Given the description of an element on the screen output the (x, y) to click on. 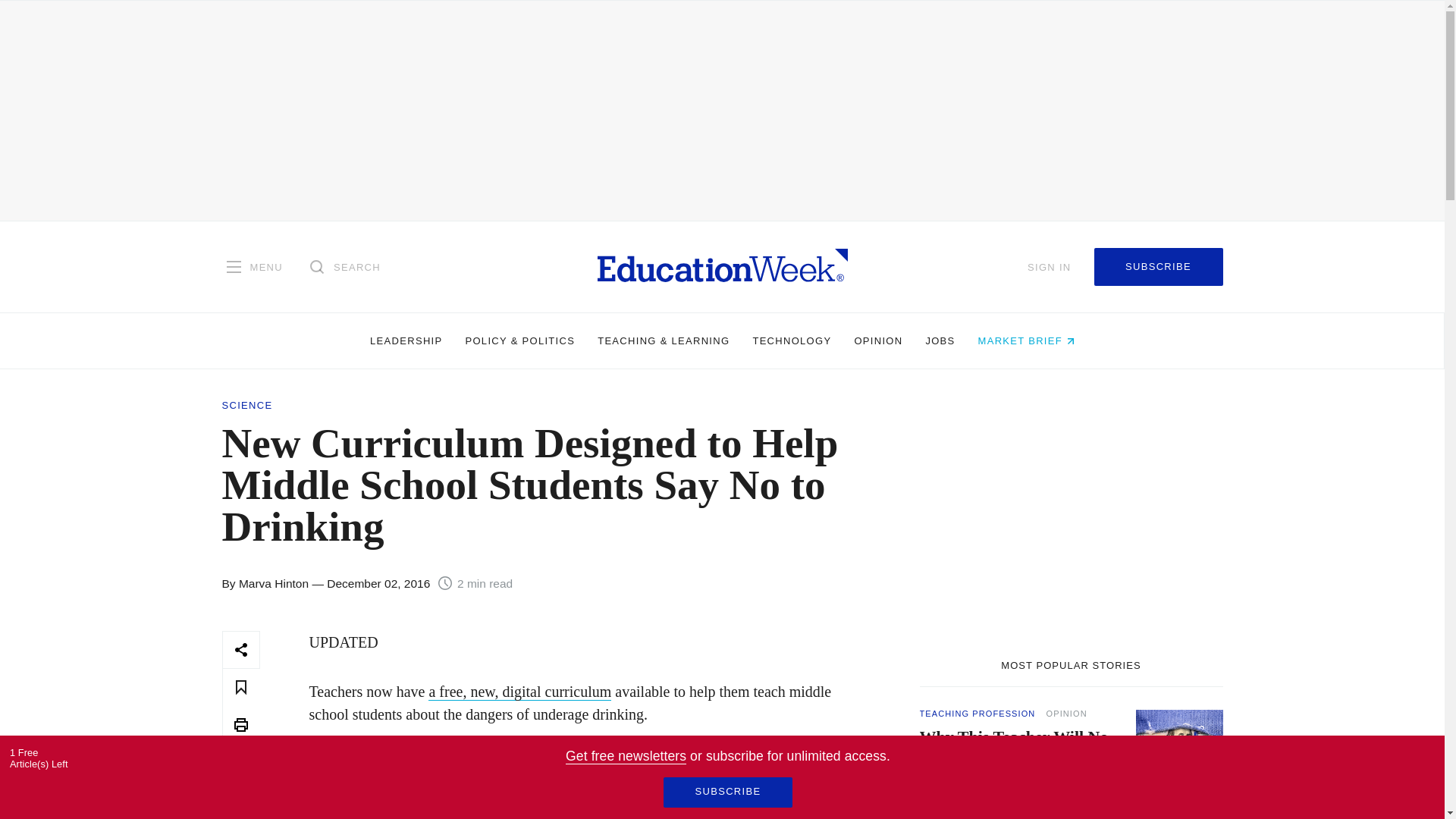
Homepage (721, 266)
